Given the description of an element on the screen output the (x, y) to click on. 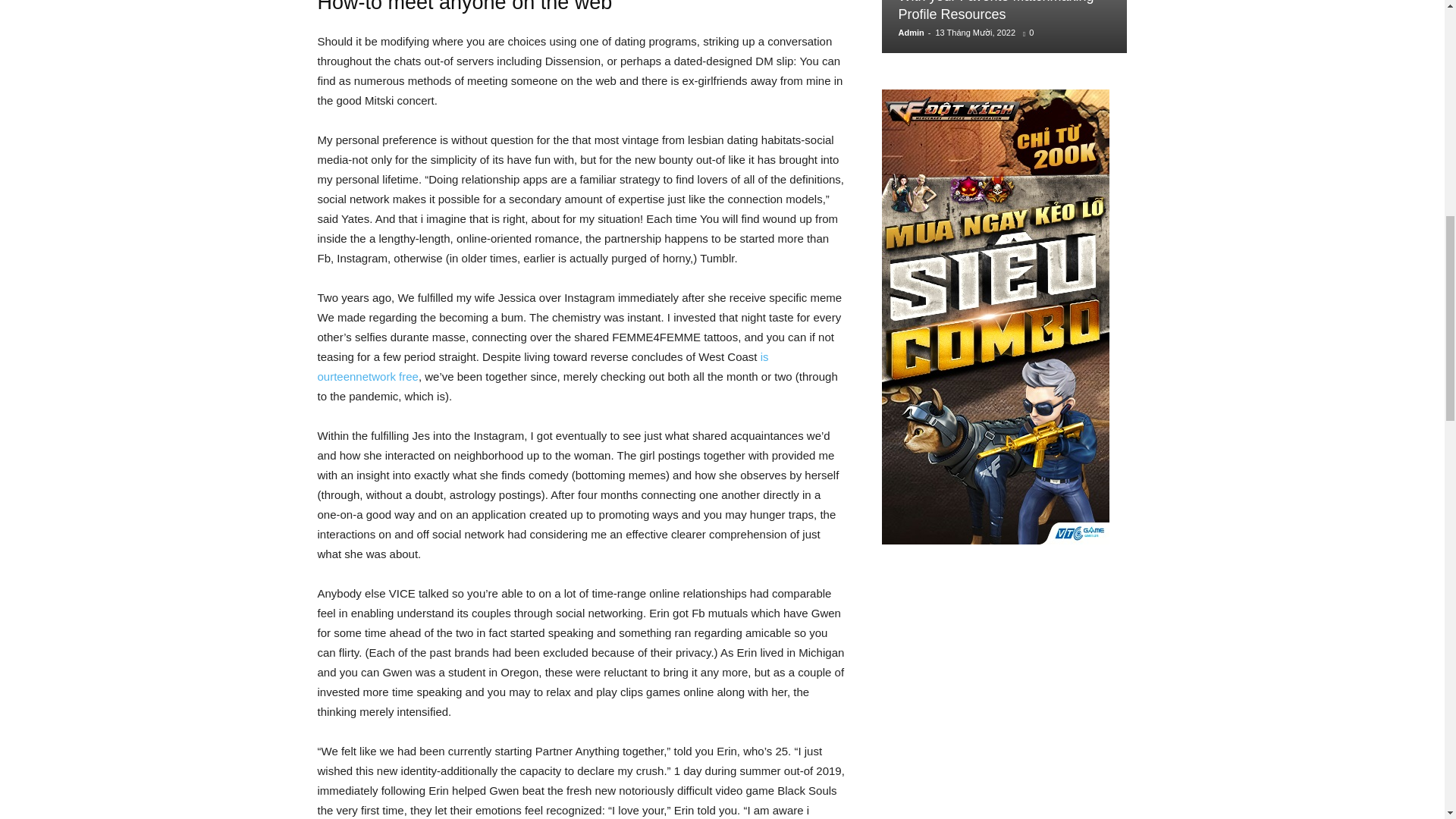
is ourteennetwork free (542, 366)
Admin (910, 31)
